Given the description of an element on the screen output the (x, y) to click on. 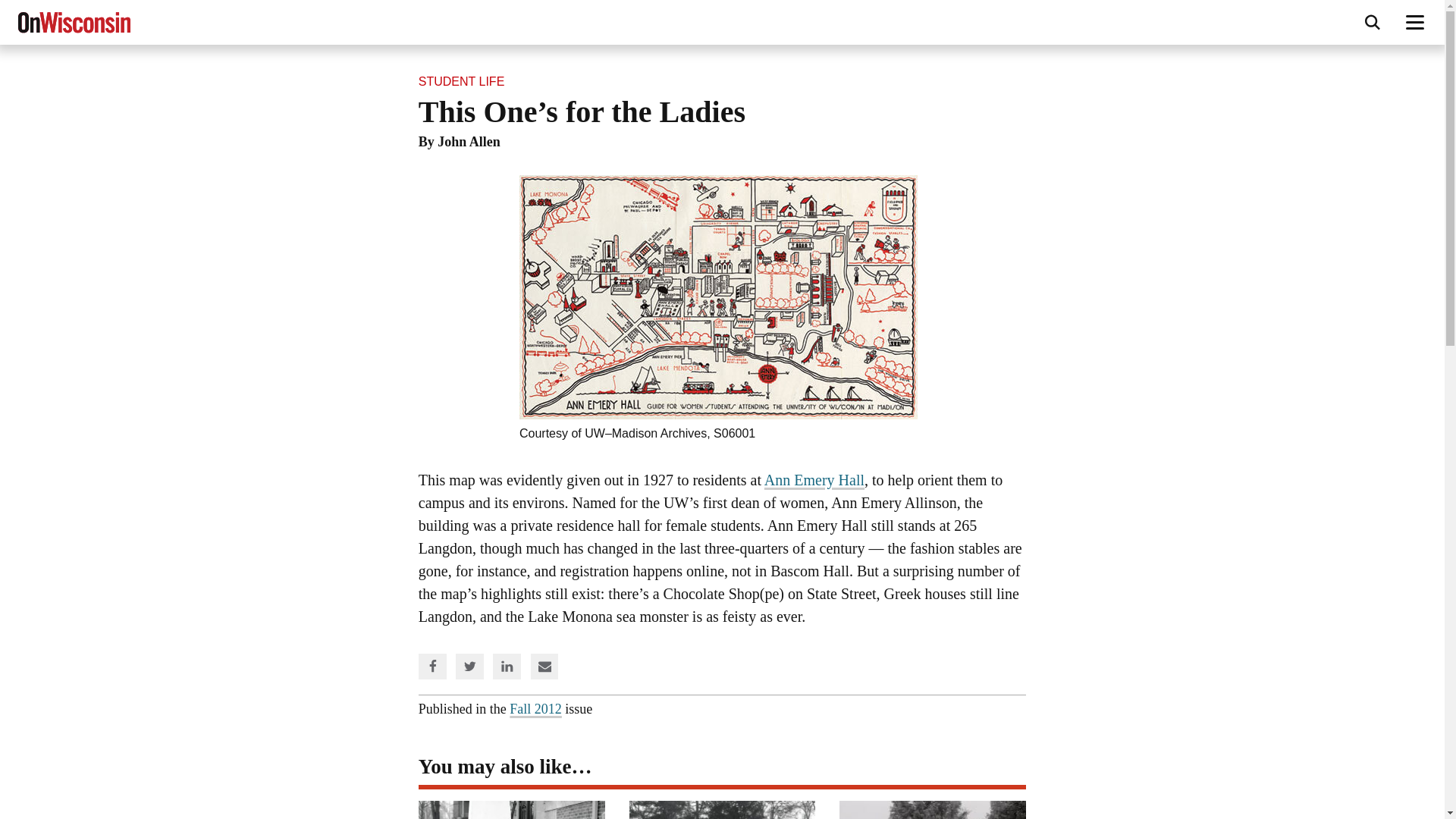
Share via Linked In (506, 666)
Share via Twitter (470, 666)
Share via Facebook (432, 666)
STUDENT LIFE (462, 81)
University of Wisconsin at Madison (621, 431)
Share via email (544, 666)
Fall 2012 (535, 708)
Ann Emery Hall (814, 479)
Skip to main content (3, 76)
